Given the description of an element on the screen output the (x, y) to click on. 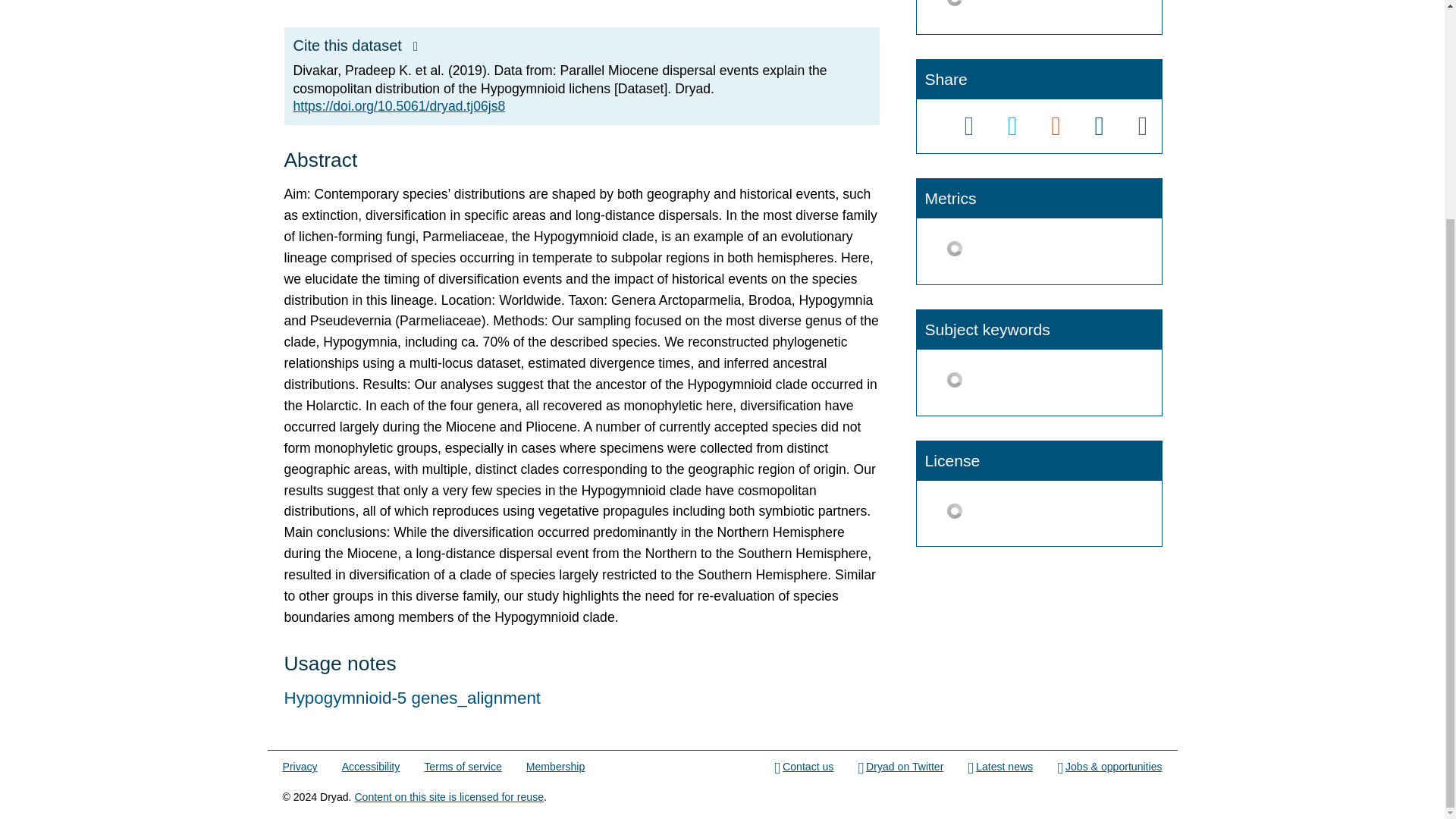
Accessibility (371, 767)
Membership (555, 767)
Privacy (299, 767)
Contact us (803, 767)
Terms of service (461, 767)
Content on this site is licensed for reuse (448, 797)
